Given the description of an element on the screen output the (x, y) to click on. 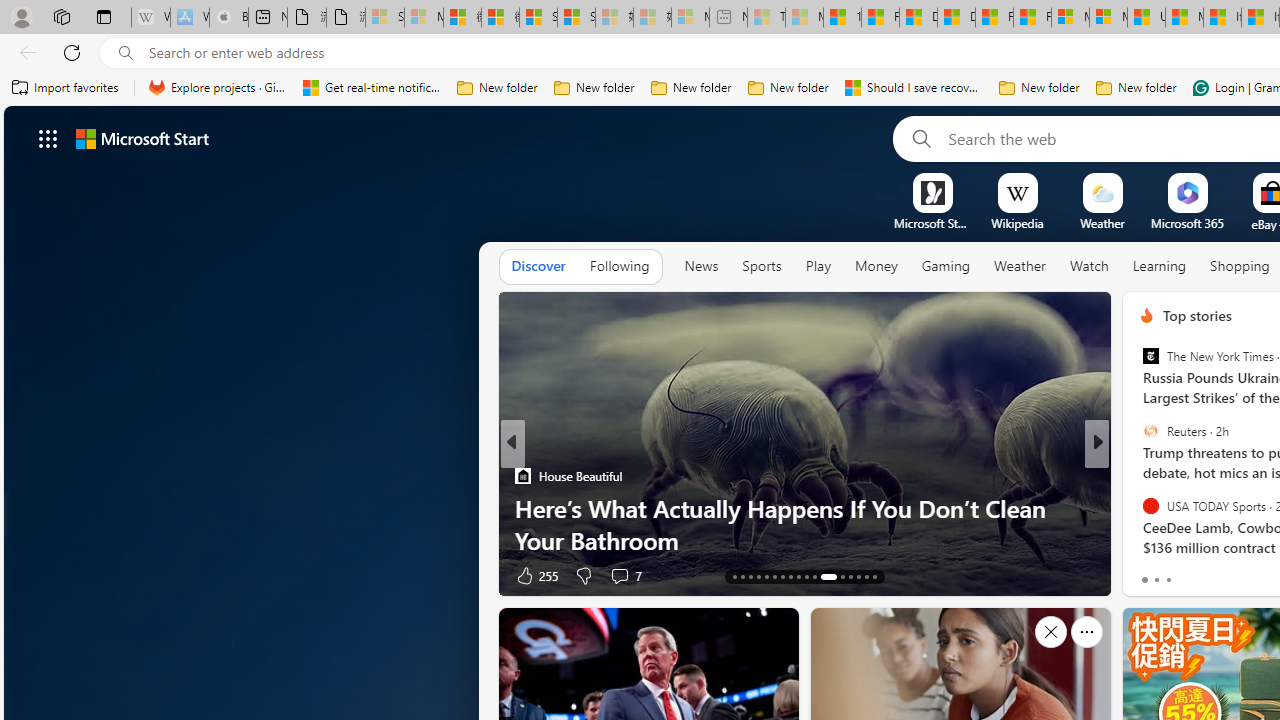
PsychLove (1138, 507)
Top Stories - MSN - Sleeping (765, 17)
AutomationID: tab-31 (857, 576)
AutomationID: tab-14 (742, 576)
Foo BAR | Trusted Community Engagement and Contributions (1031, 17)
Marine life - MSN - Sleeping (804, 17)
View comments 14 Comment (11, 575)
Top stories (1196, 315)
